Given the description of an element on the screen output the (x, y) to click on. 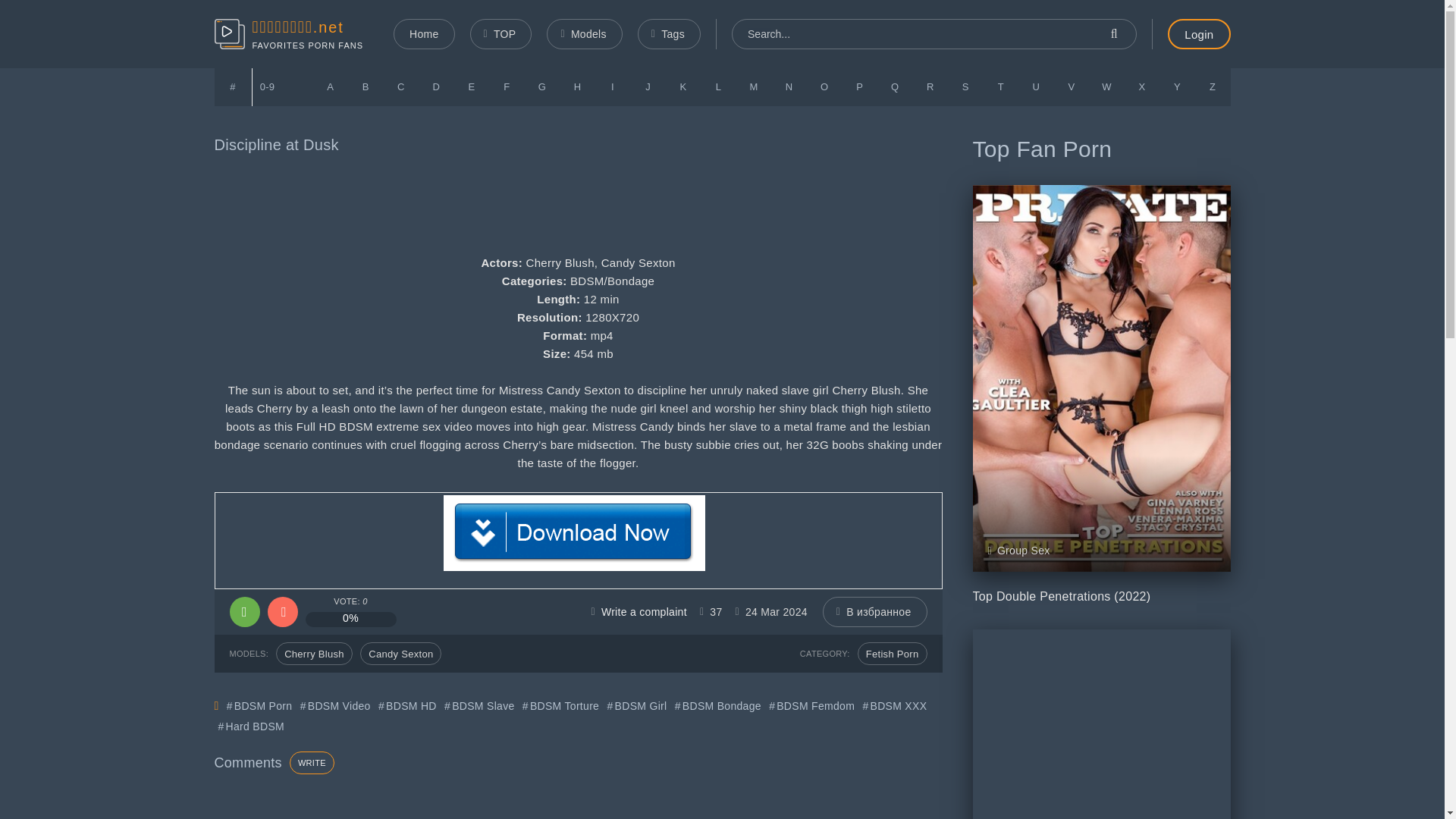
Y (1176, 86)
E (471, 86)
R (930, 86)
L (718, 86)
M (753, 86)
C (401, 86)
I (612, 86)
H (577, 86)
TOP (501, 33)
Q (894, 86)
W (1106, 86)
D (436, 86)
Z (1212, 86)
U (1035, 86)
Tags (668, 33)
